Given the description of an element on the screen output the (x, y) to click on. 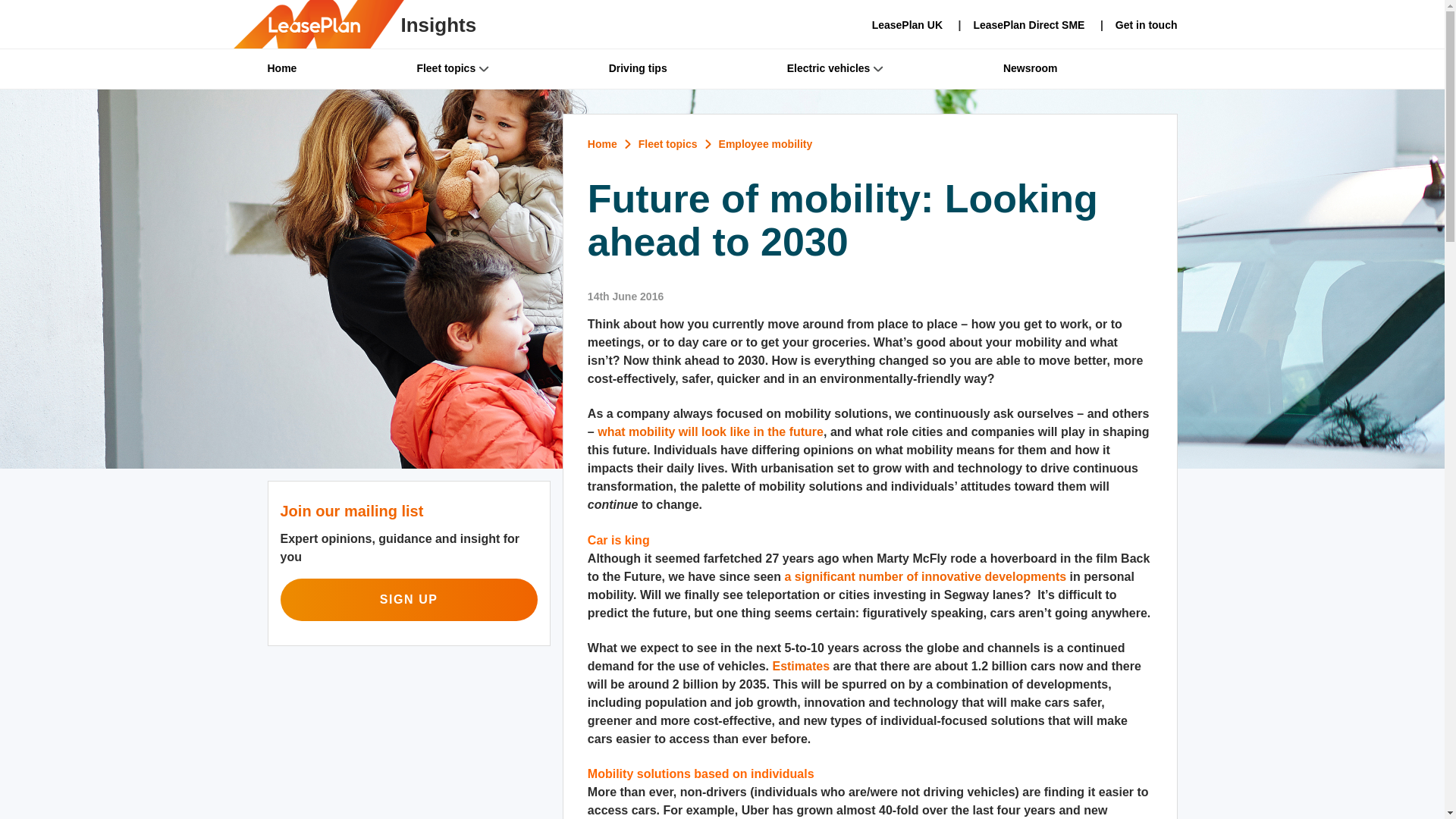
Driving tips (697, 68)
LeasePlan Direct SME (1014, 25)
Fleet topics (512, 68)
Newsroom (1090, 68)
LeasePlan UK (907, 22)
Home (341, 68)
Electric vehicles (895, 68)
Get in touch (1132, 25)
